Given the description of an element on the screen output the (x, y) to click on. 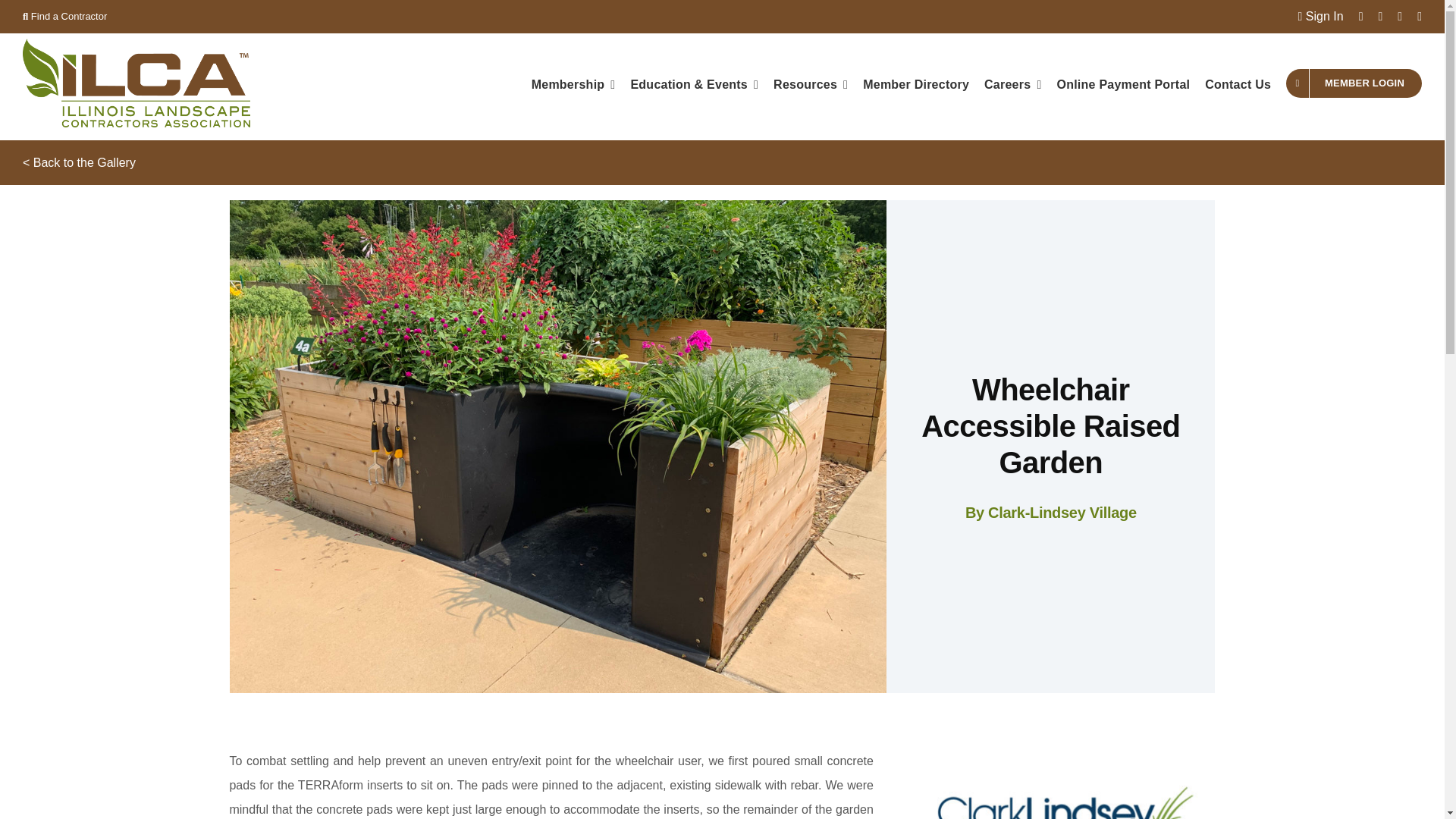
Membership (573, 82)
Member Directory (916, 82)
Resources (810, 82)
Find a Contractor (64, 16)
Sign In (1320, 15)
